Given the description of an element on the screen output the (x, y) to click on. 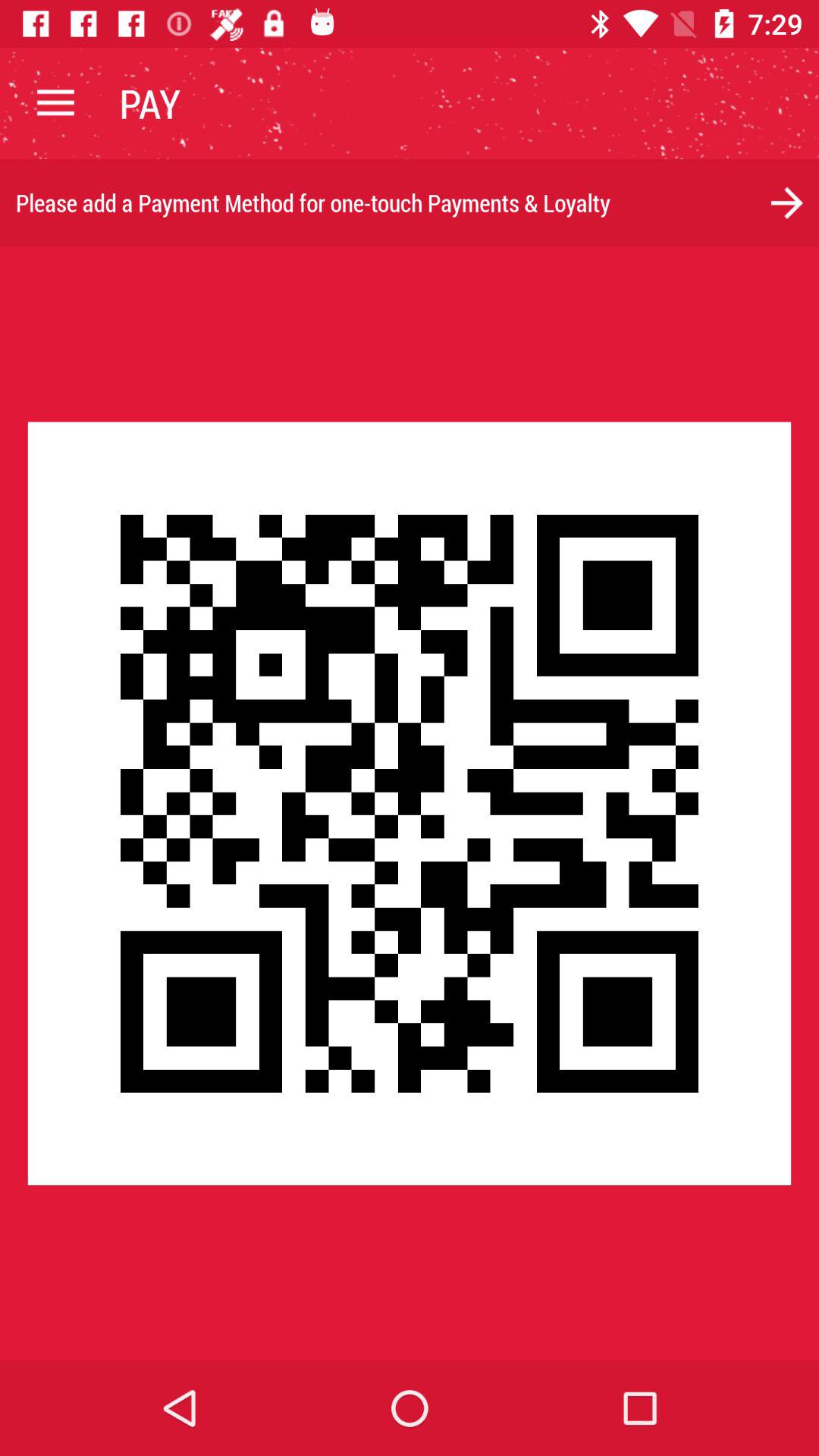
select item below please add a icon (409, 803)
